Given the description of an element on the screen output the (x, y) to click on. 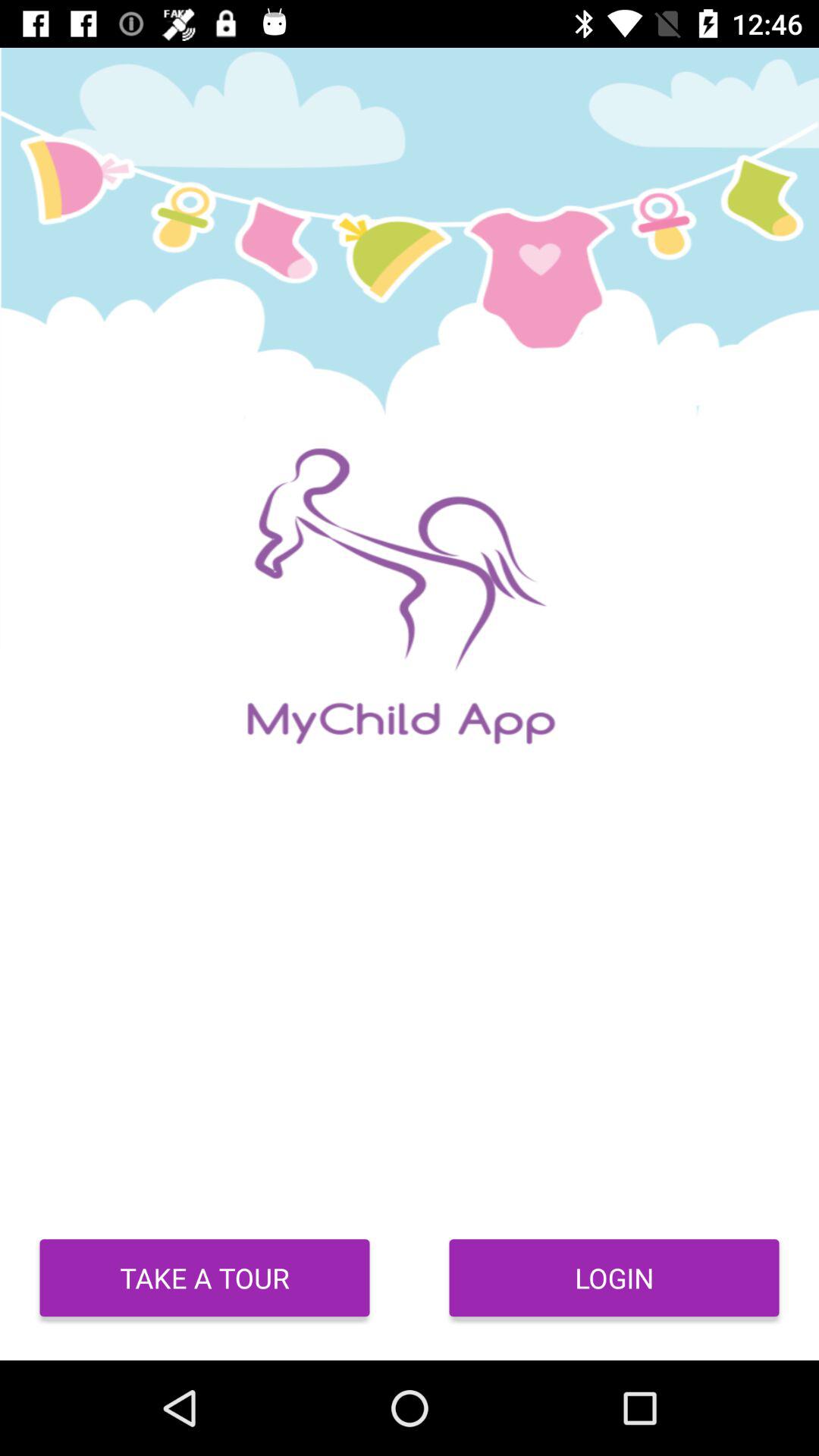
launch login (614, 1277)
